Given the description of an element on the screen output the (x, y) to click on. 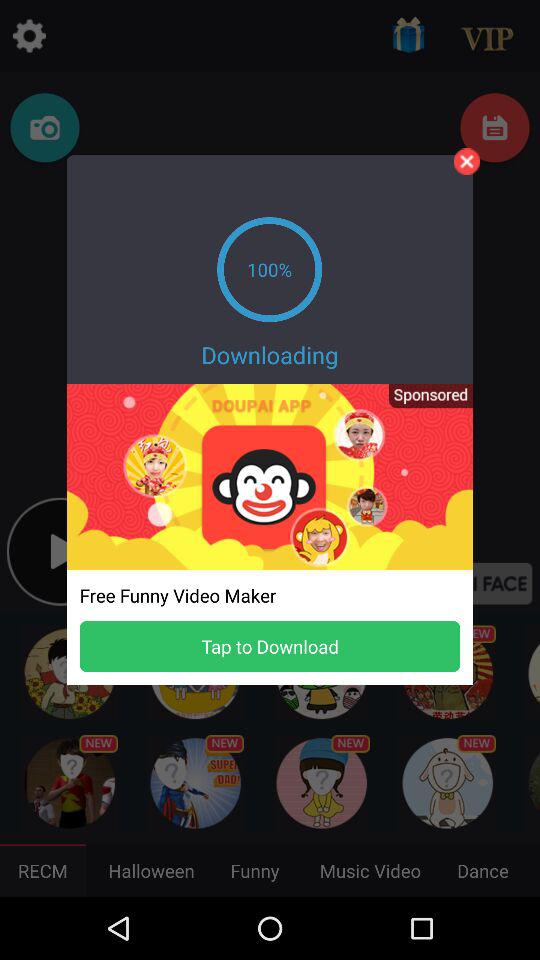
open item on the right (424, 402)
